Given the description of an element on the screen output the (x, y) to click on. 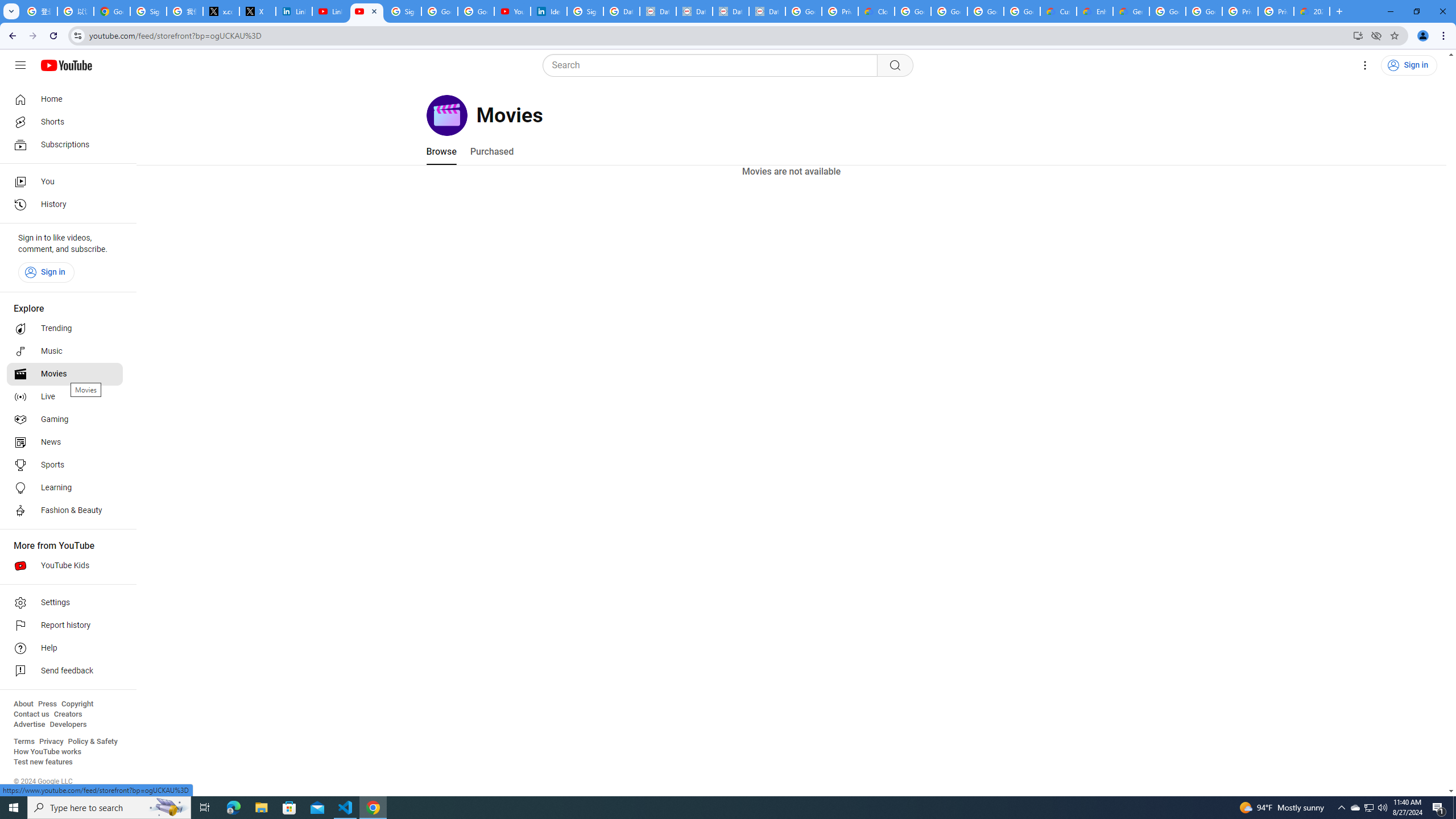
Movies (64, 373)
Subscriptions (64, 144)
Data Privacy Framework (694, 11)
How YouTube works (47, 751)
YouTube Home (66, 65)
Cloud Data Processing Addendum | Google Cloud (876, 11)
Purchased (491, 151)
Browse (441, 151)
